Given the description of an element on the screen output the (x, y) to click on. 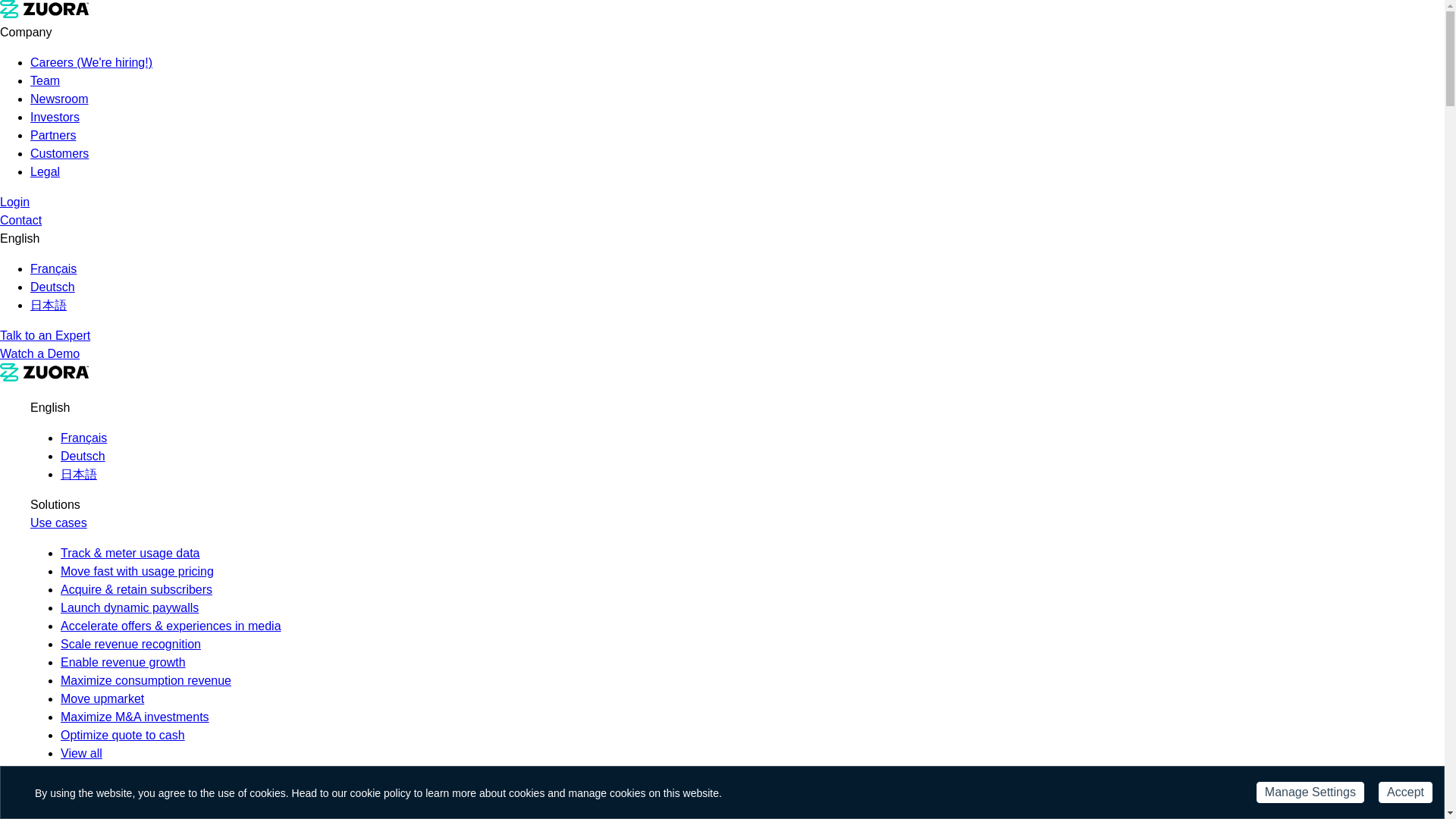
Accept (1405, 792)
Manage Settings (1310, 792)
cookie policy (380, 793)
